Given the description of an element on the screen output the (x, y) to click on. 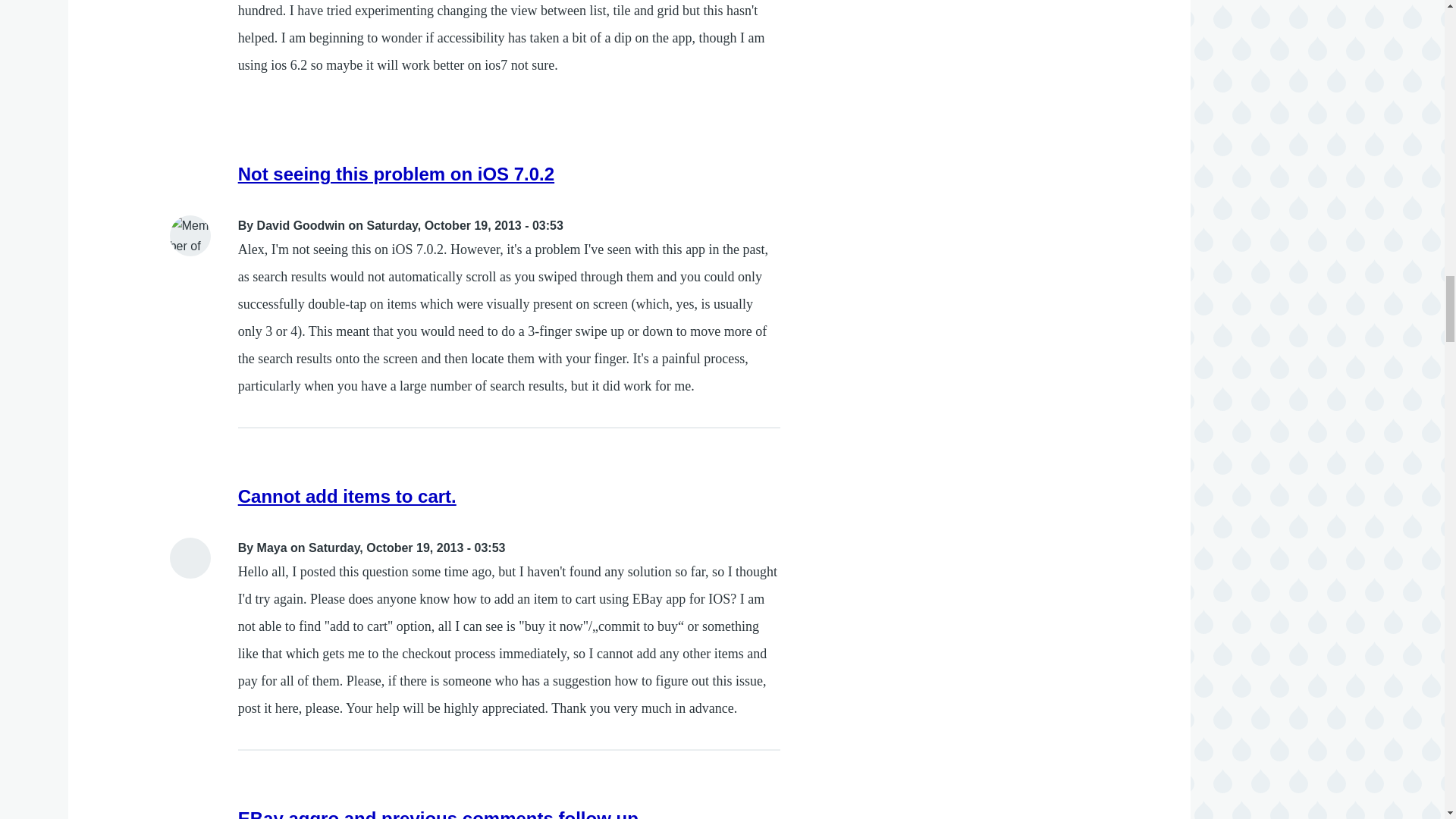
Cannot add items to cart. (347, 496)
EBay aggro and previous comments follow up (438, 813)
Not seeing this problem on iOS 7.0.2 (396, 173)
